Given the description of an element on the screen output the (x, y) to click on. 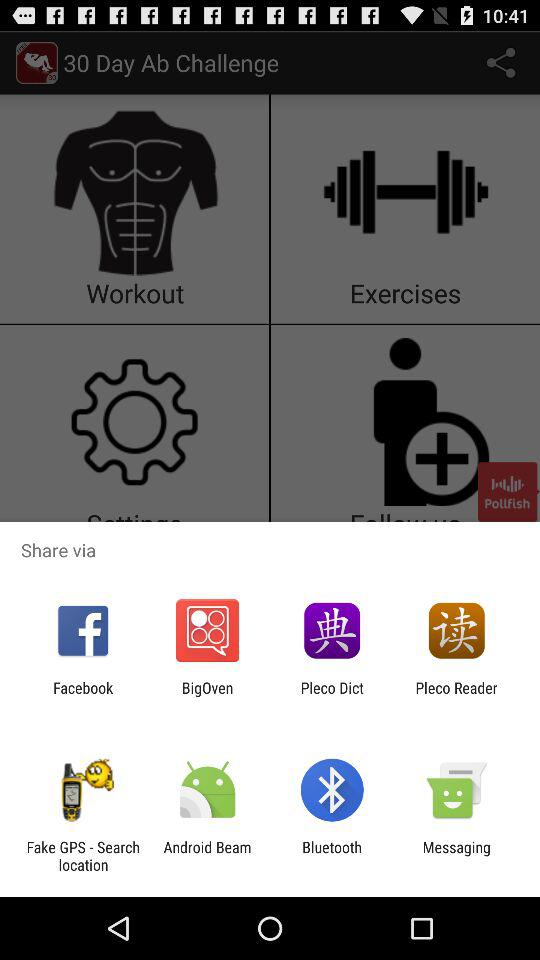
choose item next to pleco dict (207, 696)
